Given the description of an element on the screen output the (x, y) to click on. 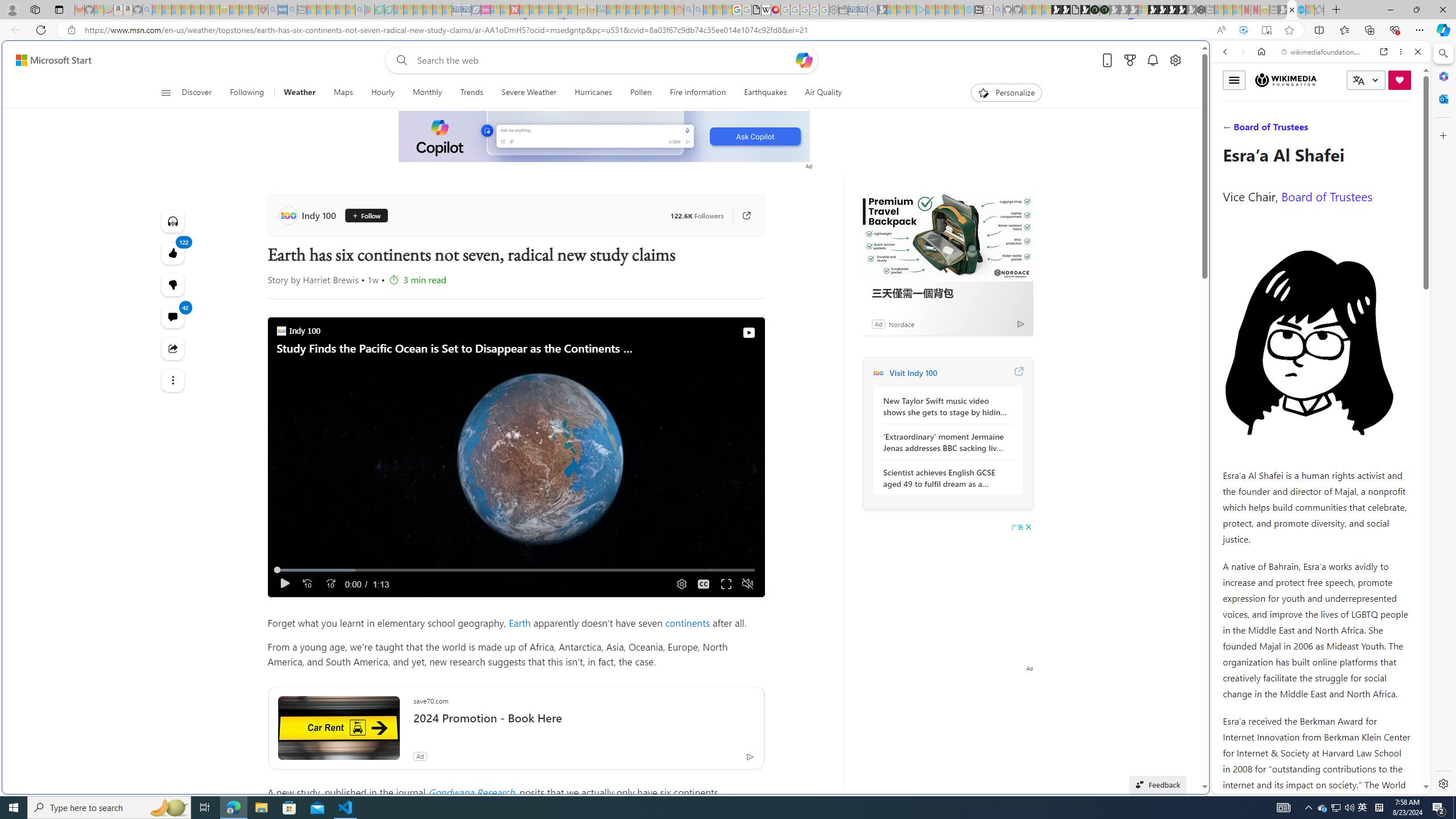
122 (172, 284)
Share this story (172, 348)
Maps (343, 92)
Play Cave FRVR in your browser | Games from Microsoft Start (922, 242)
google - Search - Sleeping (359, 9)
